Given the description of an element on the screen output the (x, y) to click on. 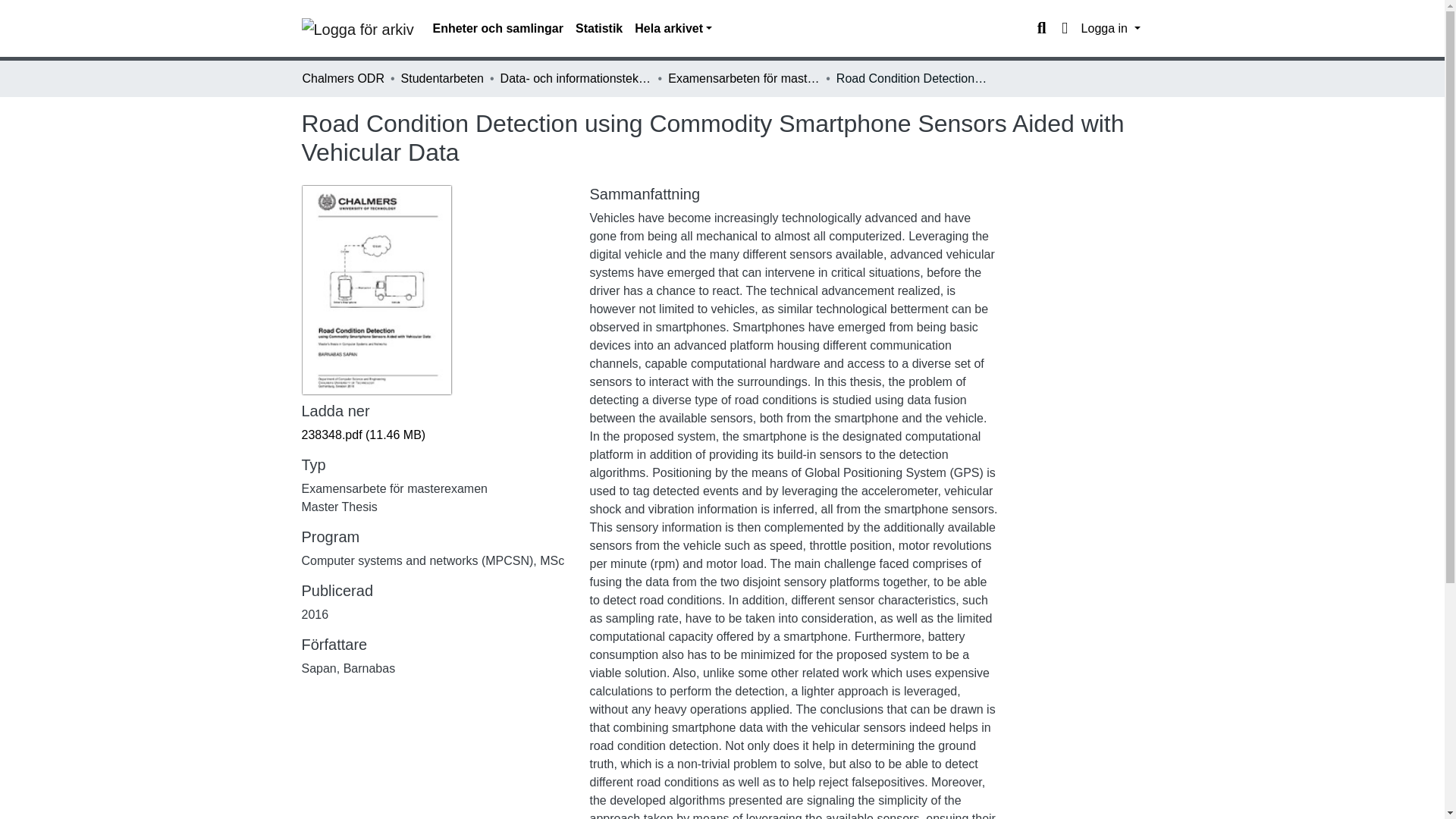
Logga in (1110, 28)
Studentarbeten (442, 78)
Hela arkivet (672, 28)
Enheter och samlingar (497, 28)
Enheter och samlingar (497, 28)
Statistik (598, 28)
Statistik (598, 28)
Chalmers ODR (342, 78)
